Given the description of an element on the screen output the (x, y) to click on. 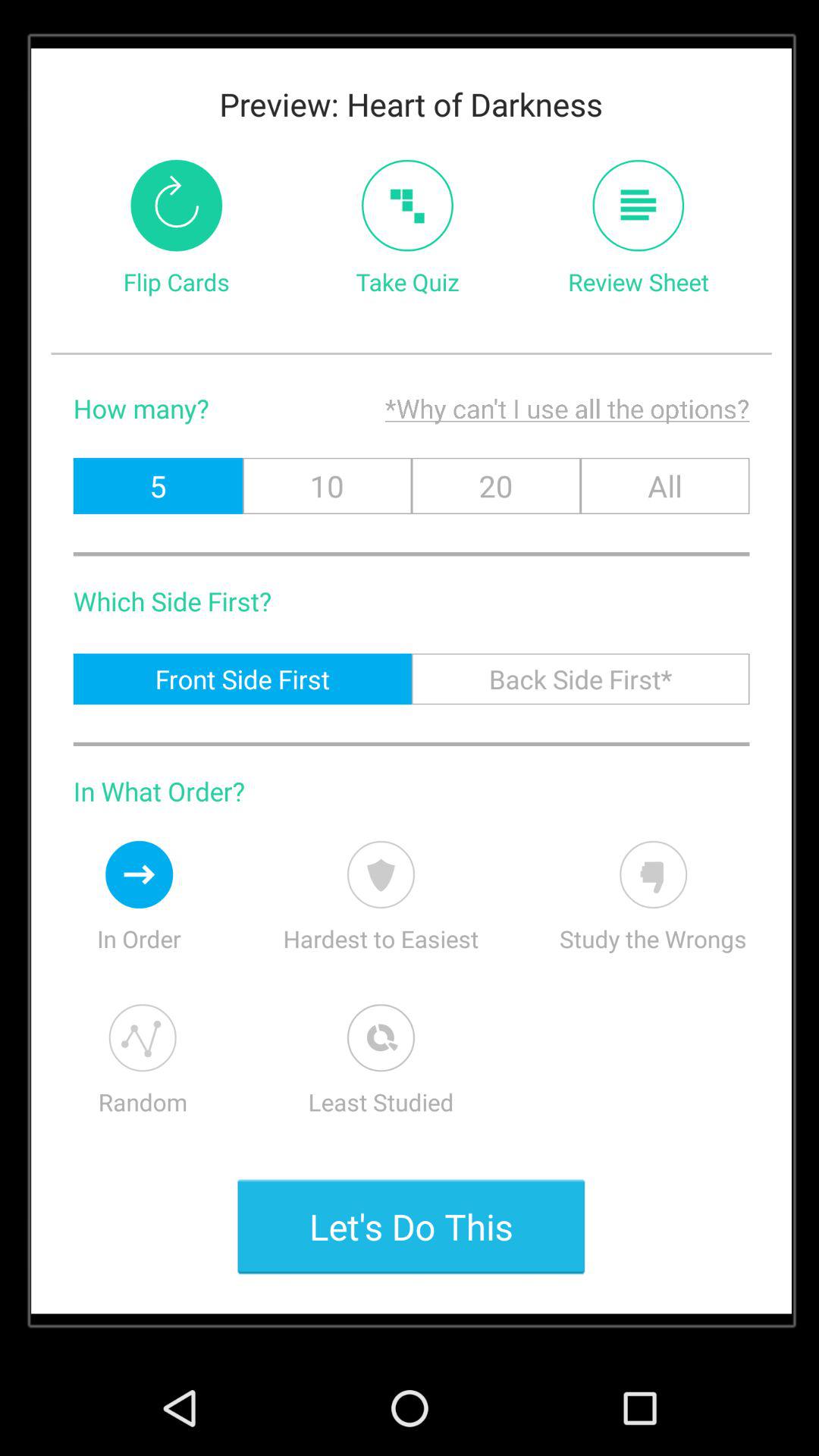
take quiz tab (407, 205)
